Given the description of an element on the screen output the (x, y) to click on. 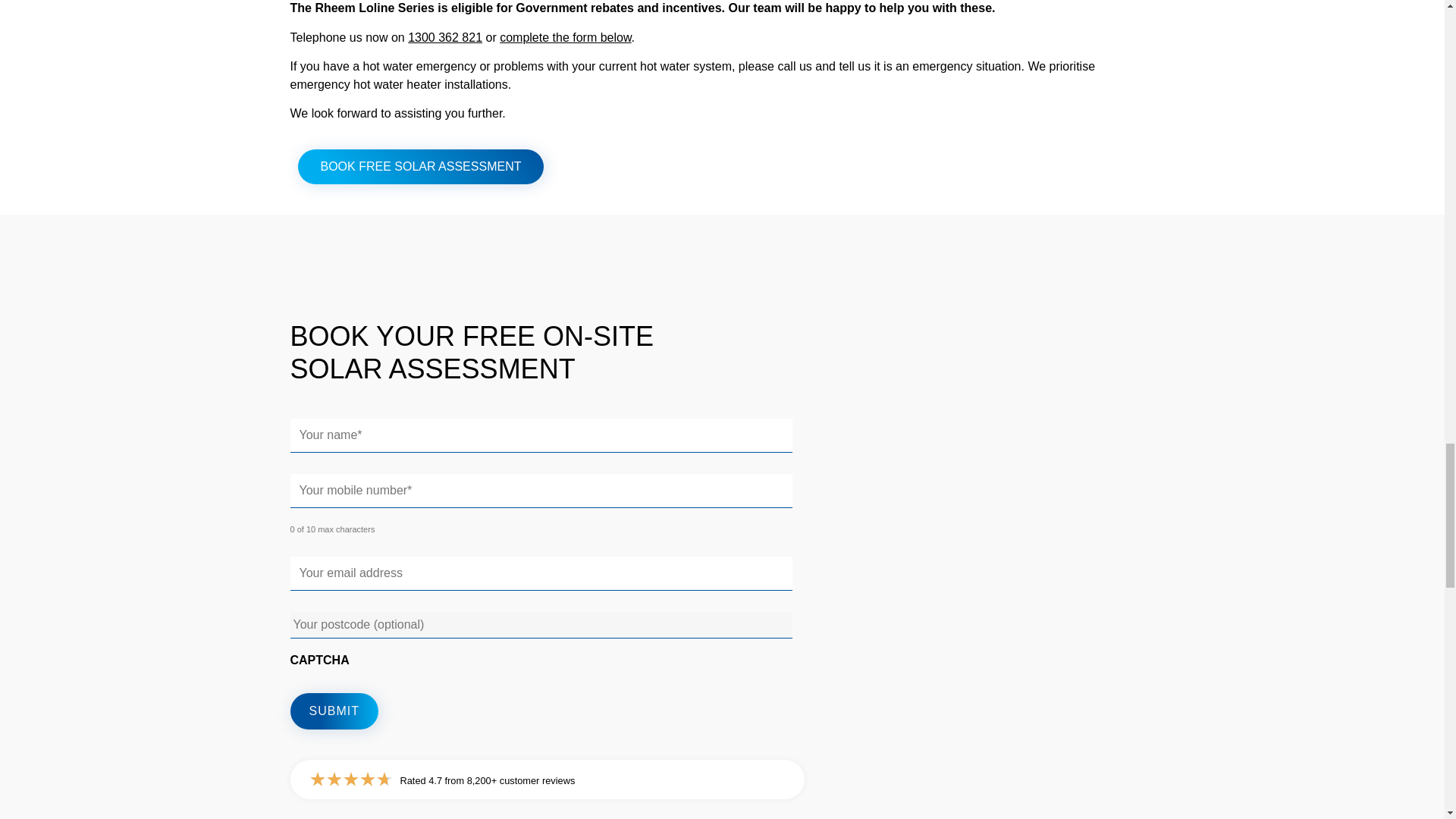
BOOK FREE SOLAR ASSESSMENT (420, 166)
Submit (333, 710)
complete the form below (564, 37)
1300 362 821 (444, 37)
Submit (333, 710)
